Given the description of an element on the screen output the (x, y) to click on. 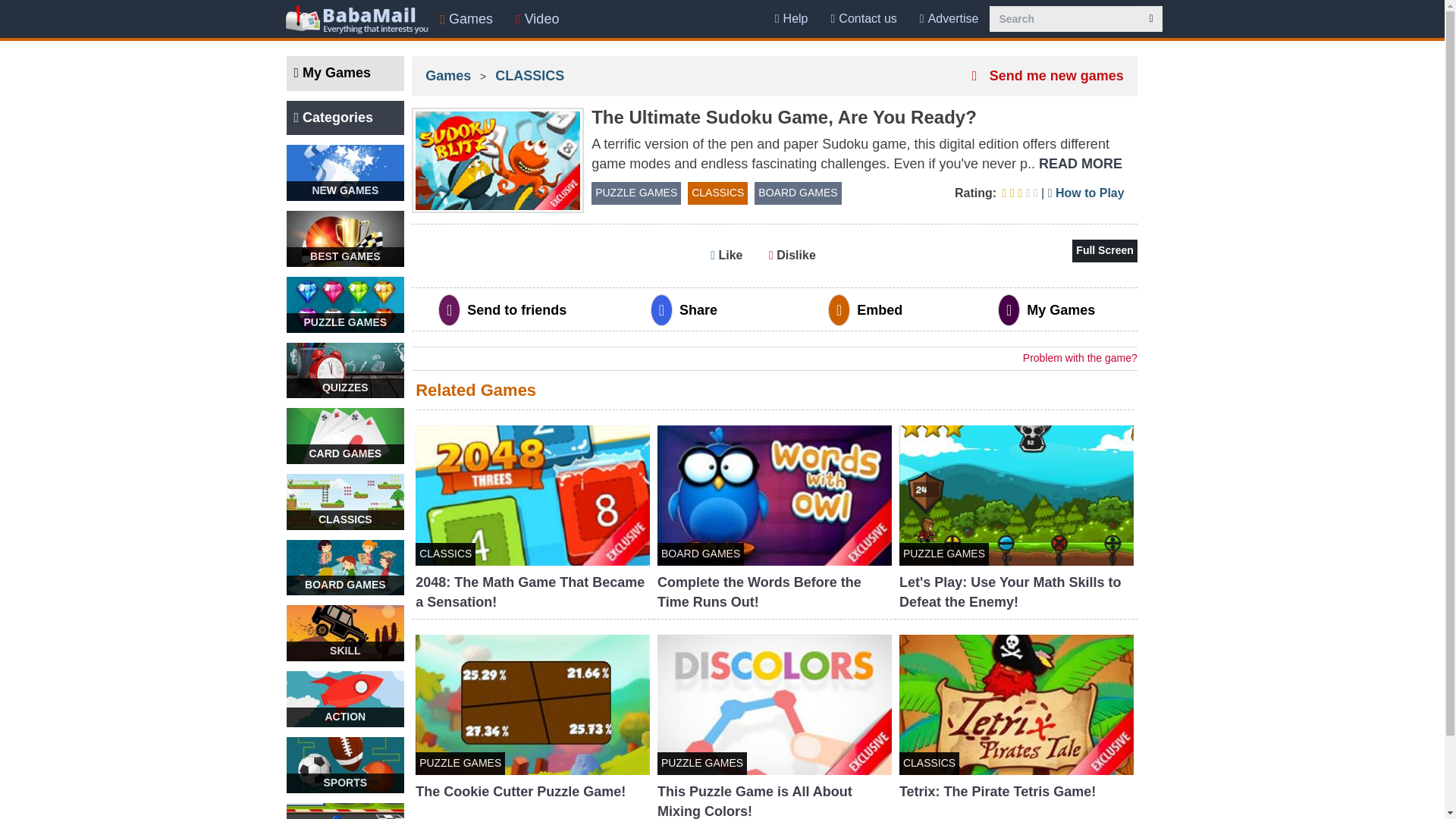
NEW GAMES (345, 172)
QUIZZES (345, 370)
Advertise (949, 18)
Categories (345, 117)
Rate: 2.5 (998, 192)
My Games (345, 73)
BEST GAMES (345, 238)
Games (467, 18)
Video (536, 18)
Contact us (862, 18)
CARD GAMES (345, 435)
BOARD GAMES (345, 567)
Videos (536, 18)
PUZZLE GAMES (345, 304)
CLASSICS (345, 501)
